Given the description of an element on the screen output the (x, y) to click on. 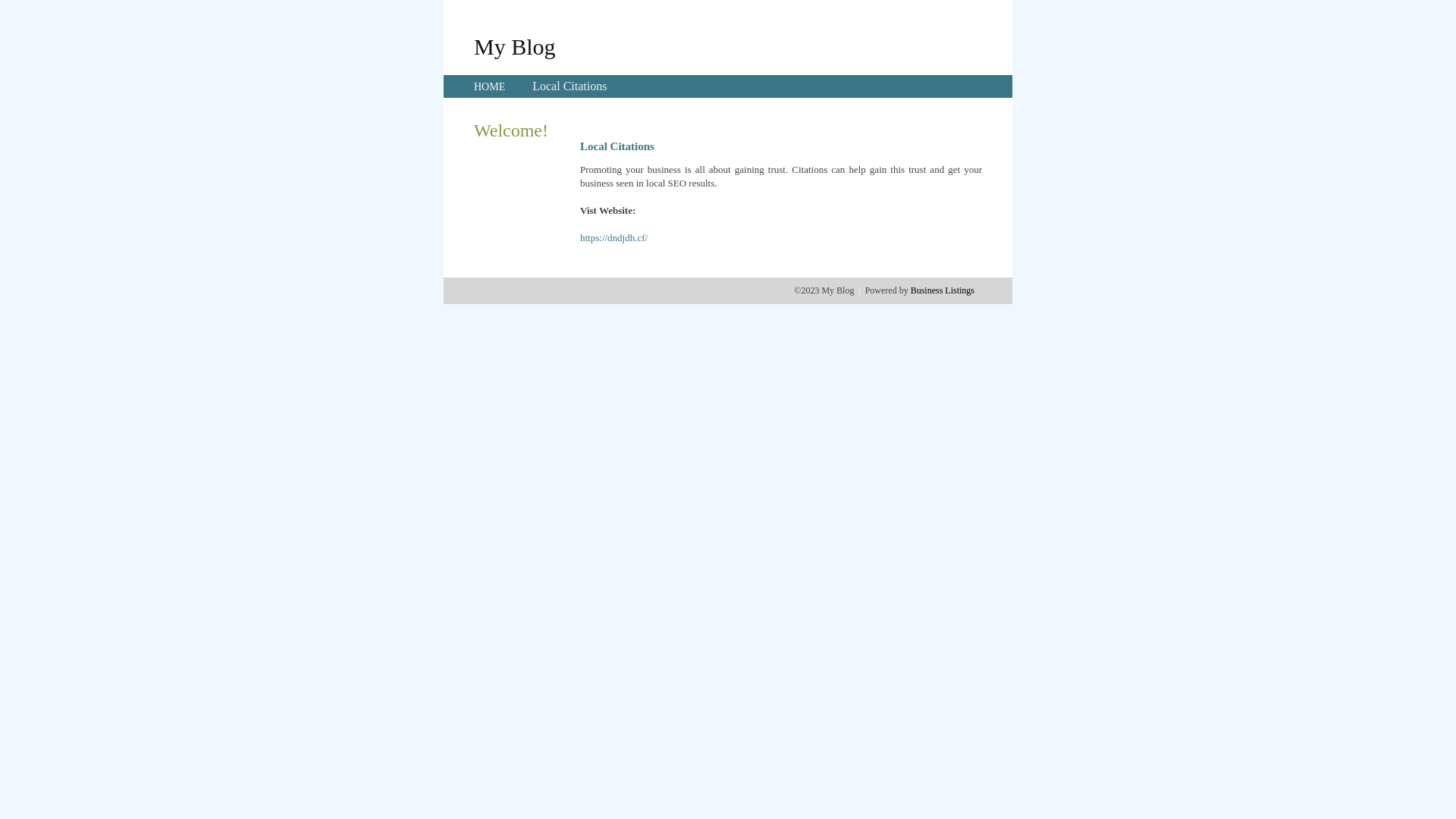
Business Listings Element type: text (942, 290)
My Blog Element type: text (514, 46)
Local Citations Element type: text (569, 85)
HOME Element type: text (489, 86)
https://dndjdh.cf/ Element type: text (613, 237)
